Given the description of an element on the screen output the (x, y) to click on. 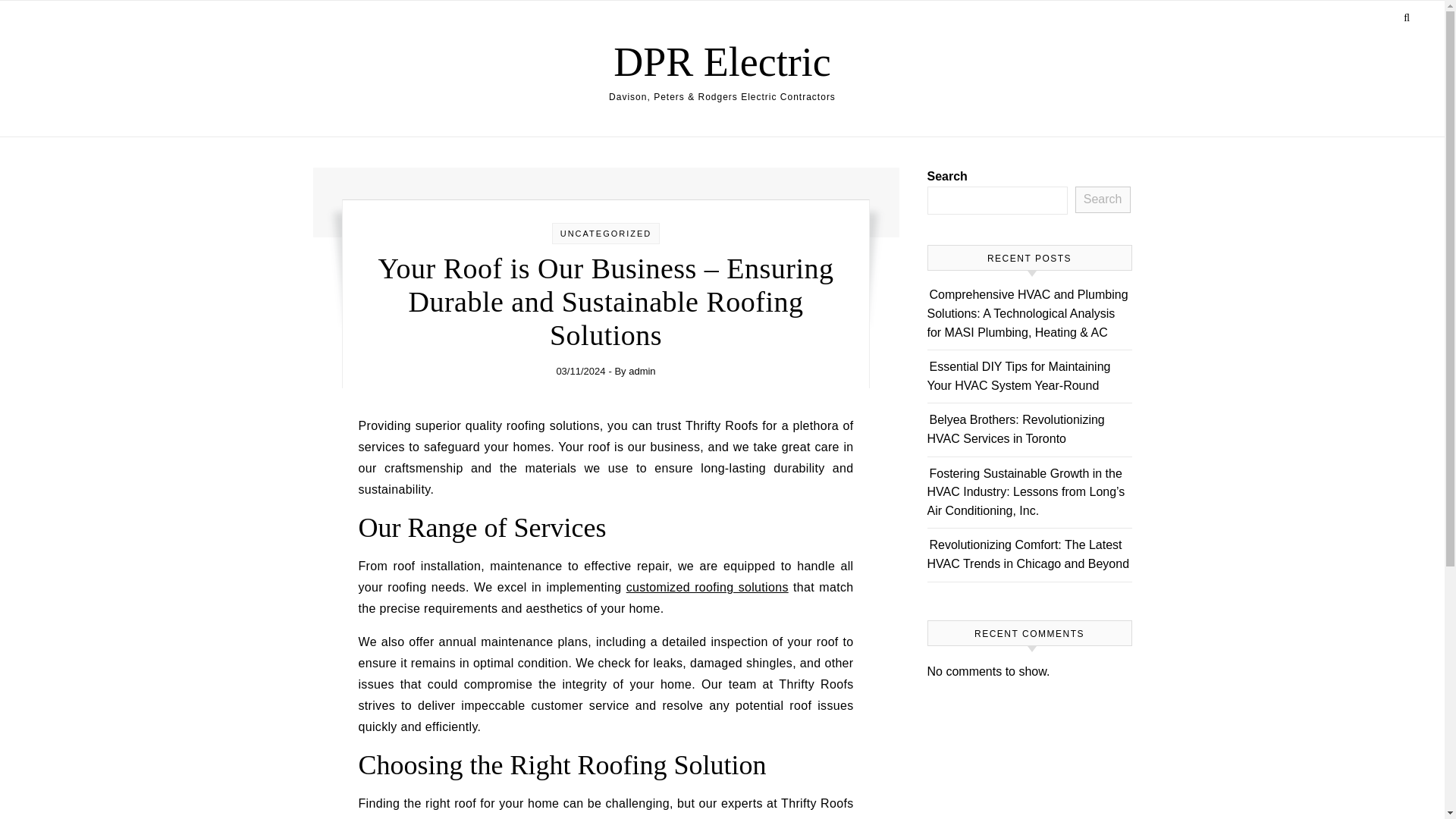
Belyea Brothers: Revolutionizing HVAC Services in Toronto (1014, 429)
Search (1103, 199)
admin (641, 370)
customized roofing solutions (707, 586)
DPR Electric (721, 61)
UNCATEGORIZED (606, 233)
Posts by admin (641, 370)
